Given the description of an element on the screen output the (x, y) to click on. 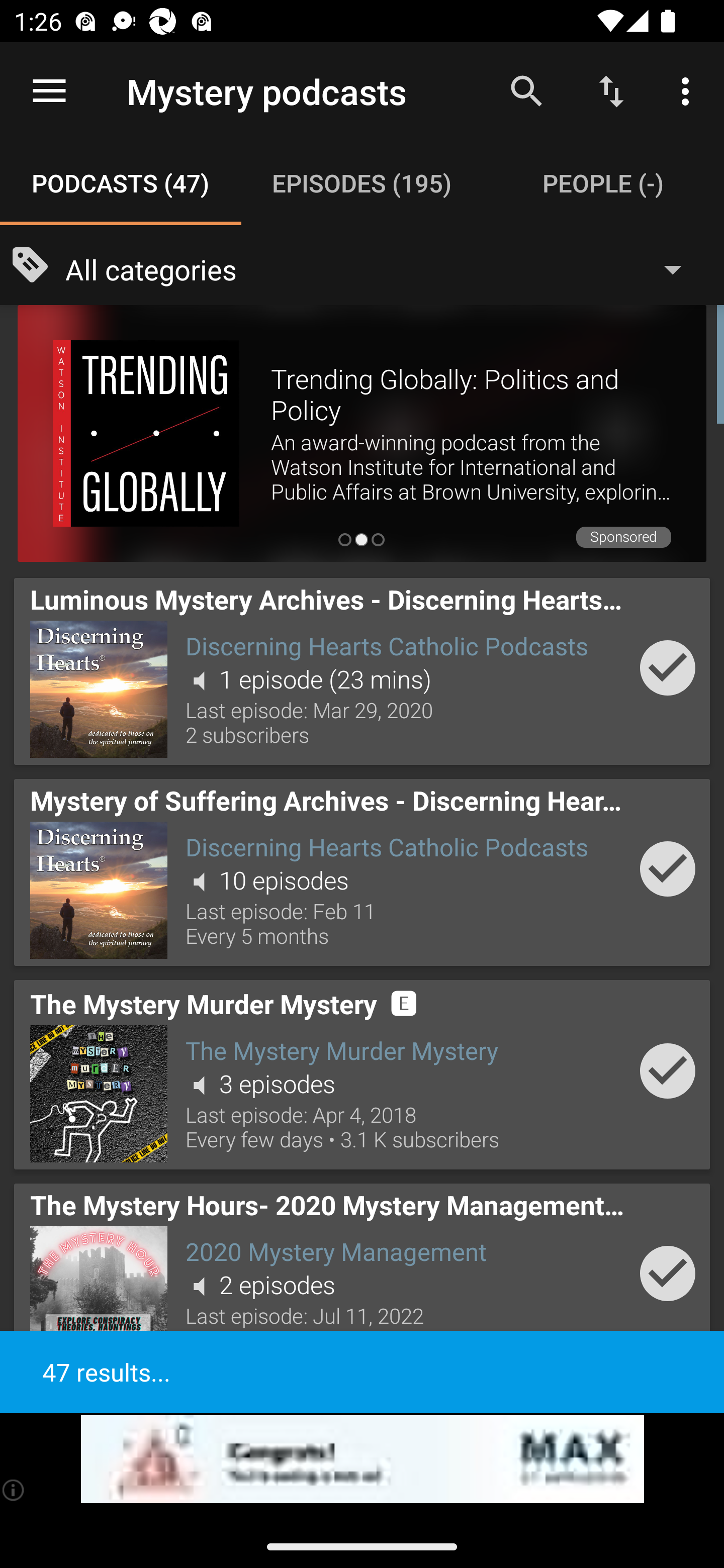
Open navigation sidebar (49, 91)
Search (526, 90)
Sort (611, 90)
More options (688, 90)
Episodes (195) EPISODES (195) (361, 183)
People (-) PEOPLE (-) (603, 183)
All categories (383, 268)
Add (667, 667)
Add (667, 868)
Add (667, 1070)
Add (667, 1272)
app-monetization (362, 1459)
(i) (14, 1489)
